Given the description of an element on the screen output the (x, y) to click on. 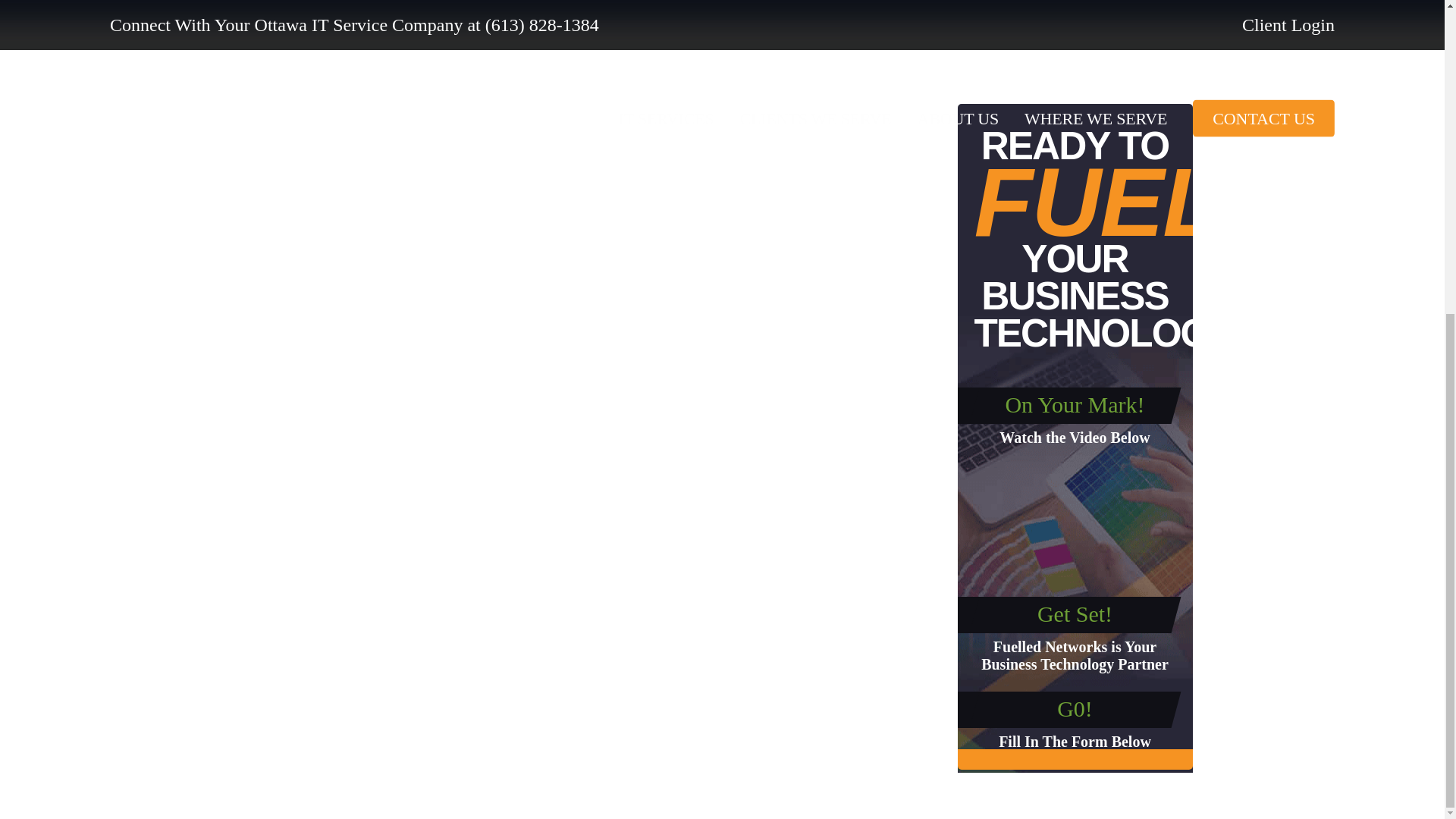
On Your Mark! (1074, 404)
G0! (1075, 708)
Get Set! (1074, 613)
